Given the description of an element on the screen output the (x, y) to click on. 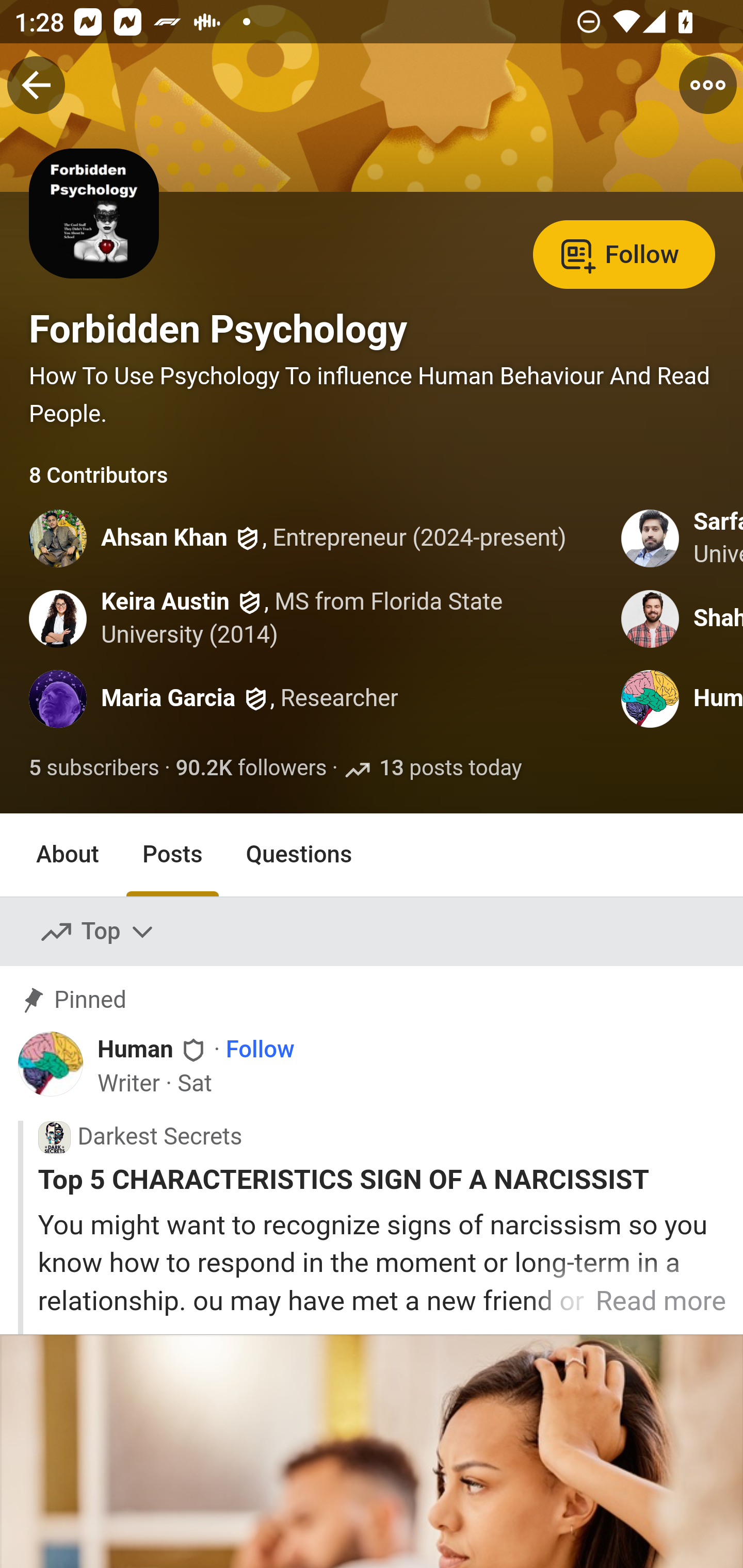
Follow (623, 252)
Forbidden Psychology (217, 329)
Profile photo for Ahsan Khan (58, 538)
Profile photo for Sarfaraz Ali (650, 538)
Ahsan Khan (164, 539)
Keira Austin (166, 601)
Profile photo for Keira Austin (58, 617)
Profile photo for Shahzad Sultan (650, 617)
Profile photo for Maria Garcia (58, 699)
Profile photo for Human (650, 699)
Maria Garcia (168, 699)
5 subscribers (94, 768)
90.2K followers (251, 768)
About (68, 854)
Posts (171, 854)
Questions (299, 854)
Top (97, 931)
Profile photo for Human (50, 1063)
Human Human   (153, 1049)
Follow (259, 1051)
Icon for Darkest Secrets (54, 1137)
Top 5 CHARACTERISTICS SIGN OF A NARCISSIST (381, 1179)
